Given the description of an element on the screen output the (x, y) to click on. 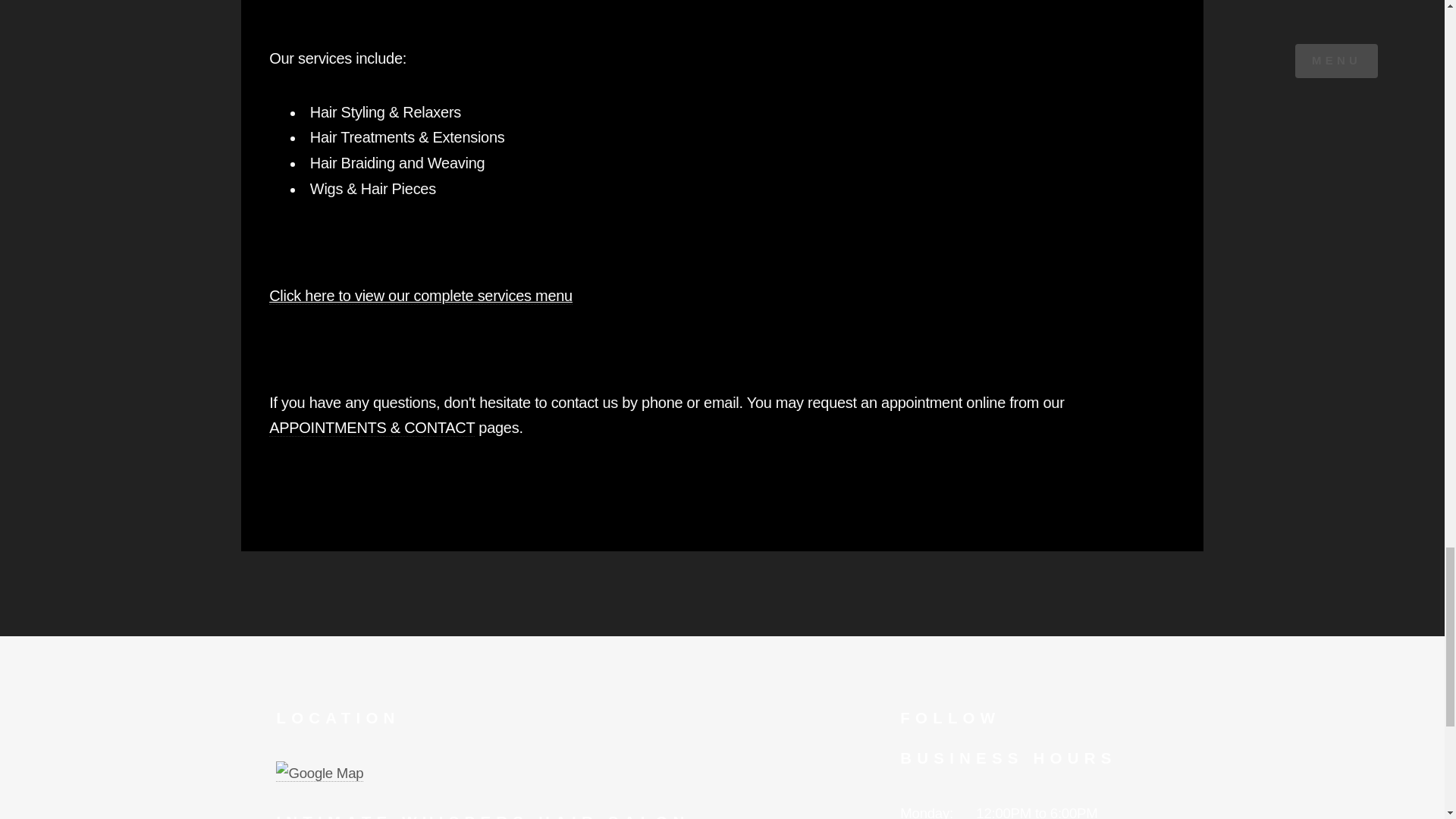
Click here to view our complete services menu (420, 295)
